Given the description of an element on the screen output the (x, y) to click on. 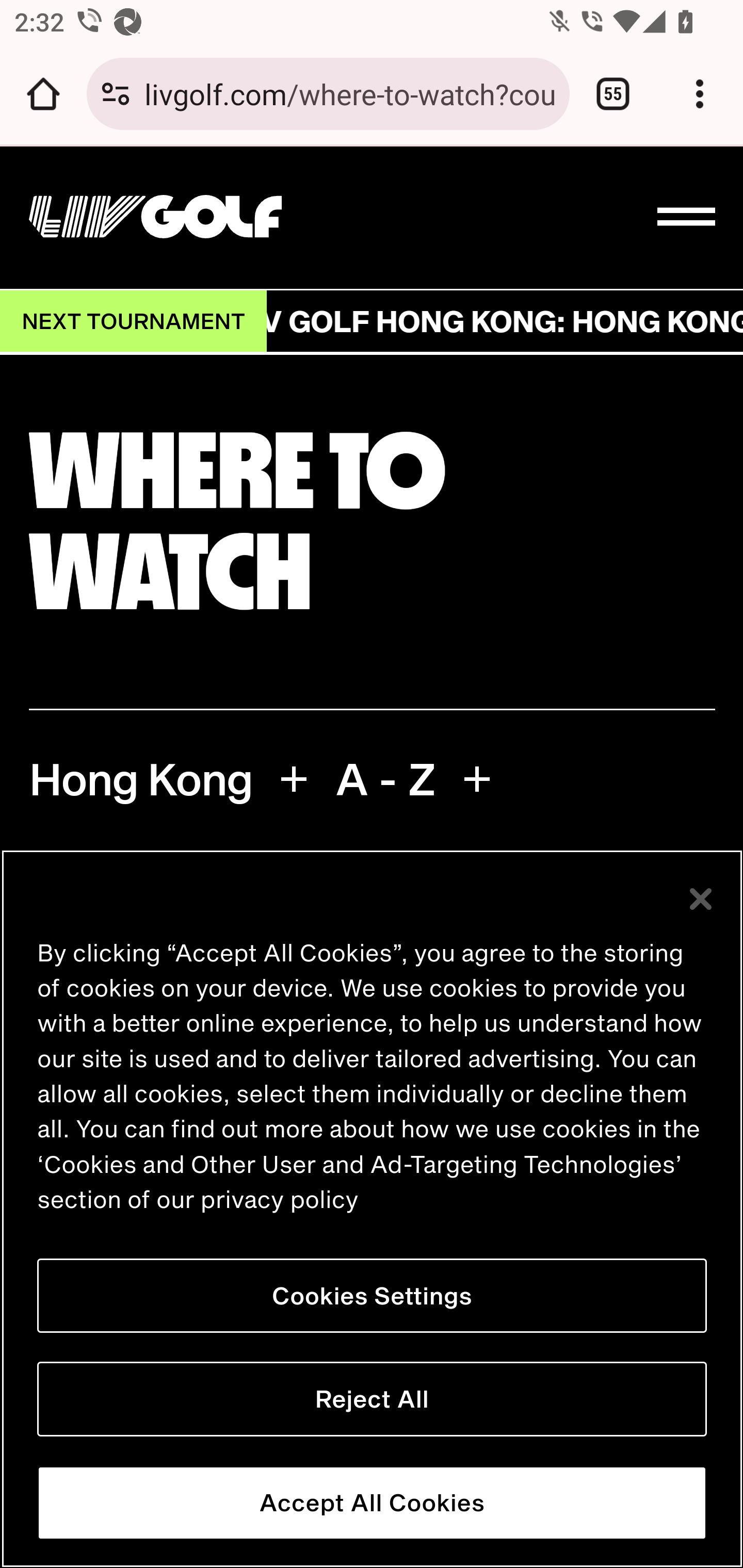
Open the home page (43, 93)
Connection is secure (115, 93)
Switch or close tabs (612, 93)
Customize and control Google Chrome (699, 93)
livgolf.com/where-to-watch?country=hong-kong (349, 92)
Toggle main menu - currently closed (686, 217)
Liv golf logo (154, 216)
Australia (371, 870)
Cookies Settings (372, 1295)
Reject All (372, 1399)
Accept All Cookies (372, 1502)
